Given the description of an element on the screen output the (x, y) to click on. 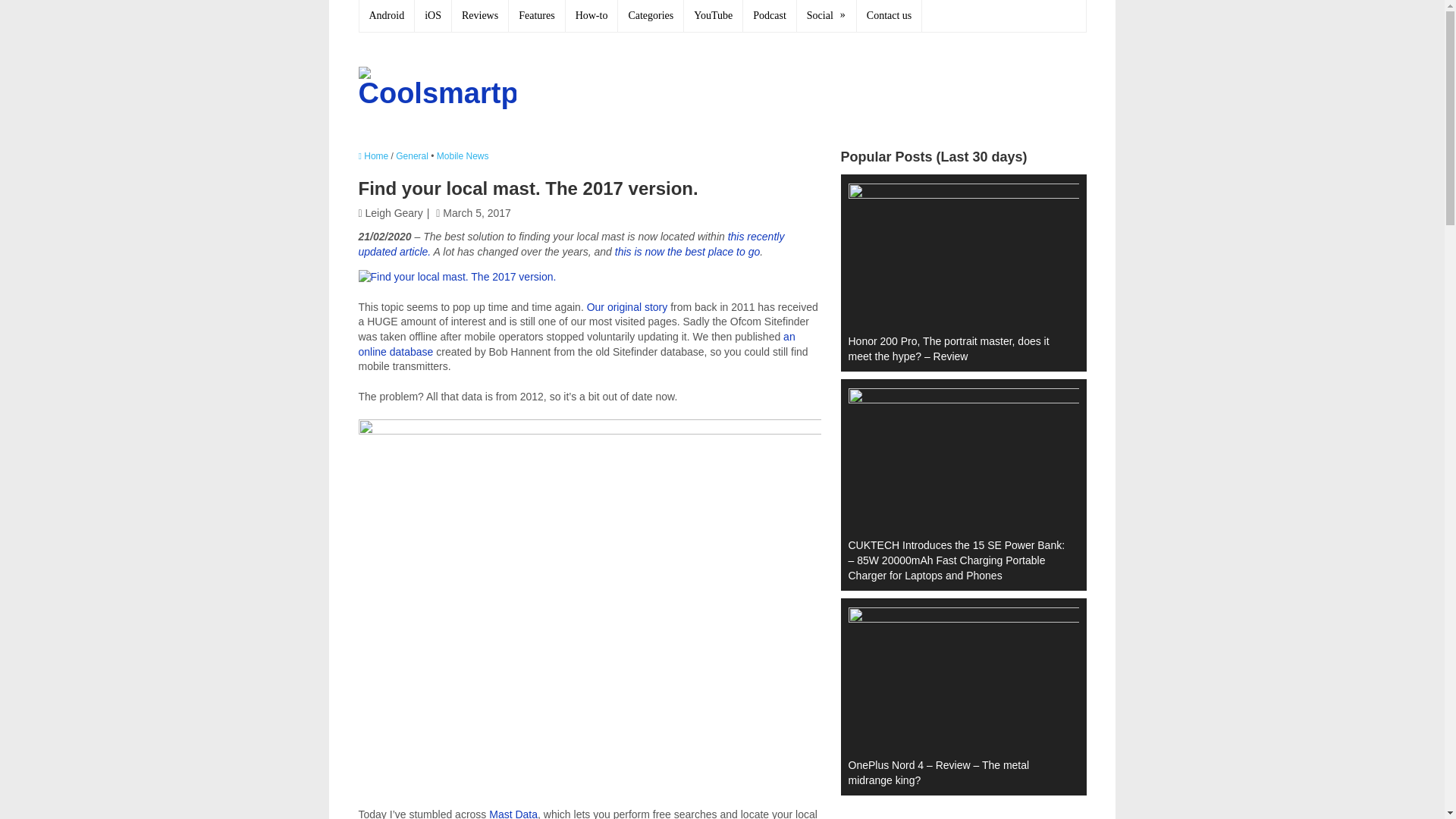
Podcast (769, 15)
this is now the best place to go (687, 251)
Categories (650, 15)
Leigh Geary (394, 213)
Android (386, 15)
Mast Data (513, 813)
Home (373, 155)
iOS (432, 15)
Posts by Leigh Geary (394, 213)
this recently updated article. (571, 243)
